Given the description of an element on the screen output the (x, y) to click on. 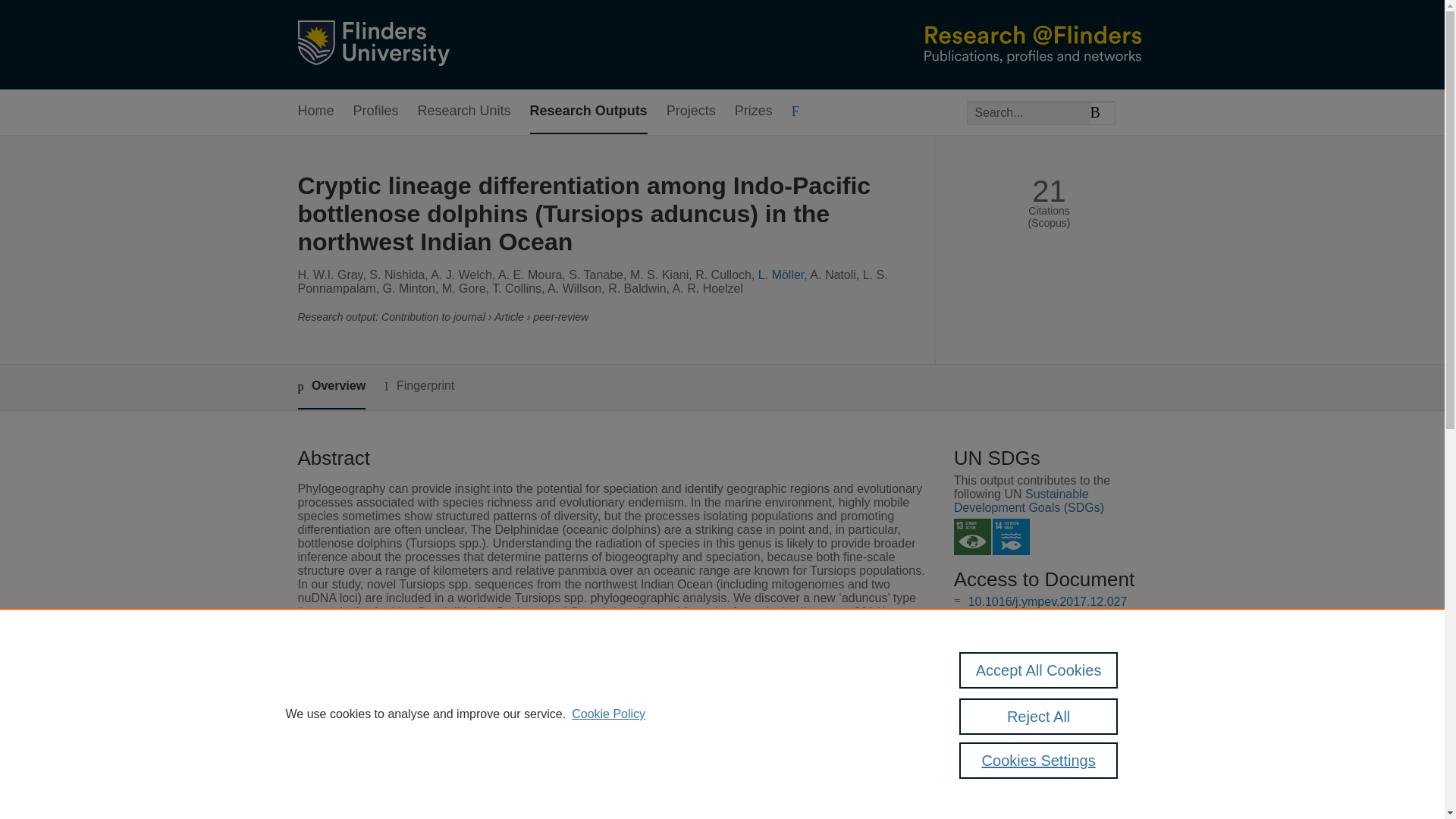
Profiles (375, 111)
Molecular Phylogenetics and Evolution (611, 771)
Projects (691, 111)
Overview (331, 386)
SDG 13 - Climate Action (972, 537)
In Copyright (1034, 616)
SDG 14 - Life Below Water (1010, 537)
Link to publication in Scopus (1045, 675)
Fingerprint (419, 385)
